Given the description of an element on the screen output the (x, y) to click on. 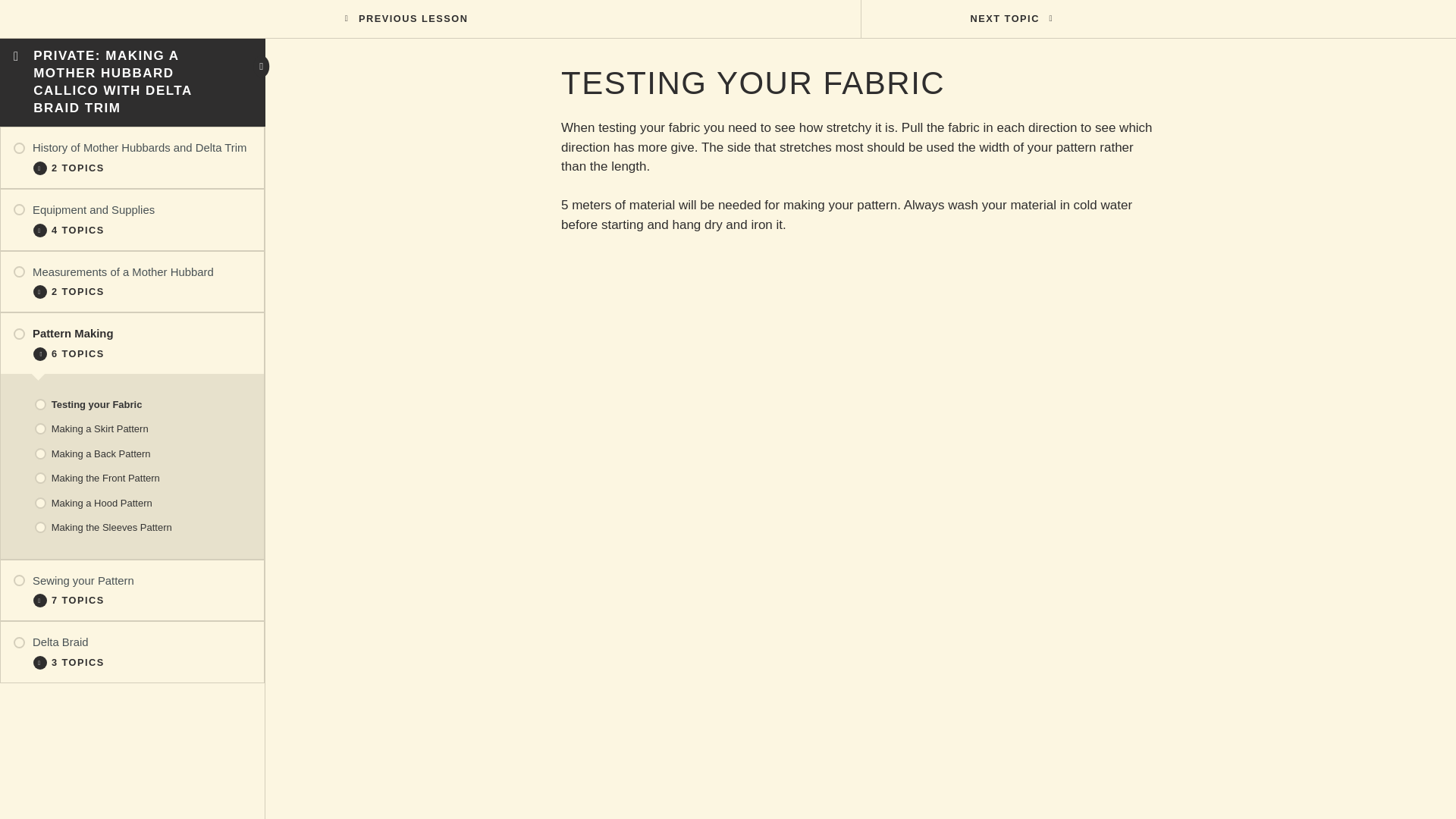
History of Mother Hubbards and Delta Trim (131, 148)
NEXT TOPIC (1007, 18)
Measurements of a Mother Hubbard (131, 271)
PREVIOUS LESSON (410, 18)
Equipment and Supplies (131, 210)
